Given the description of an element on the screen output the (x, y) to click on. 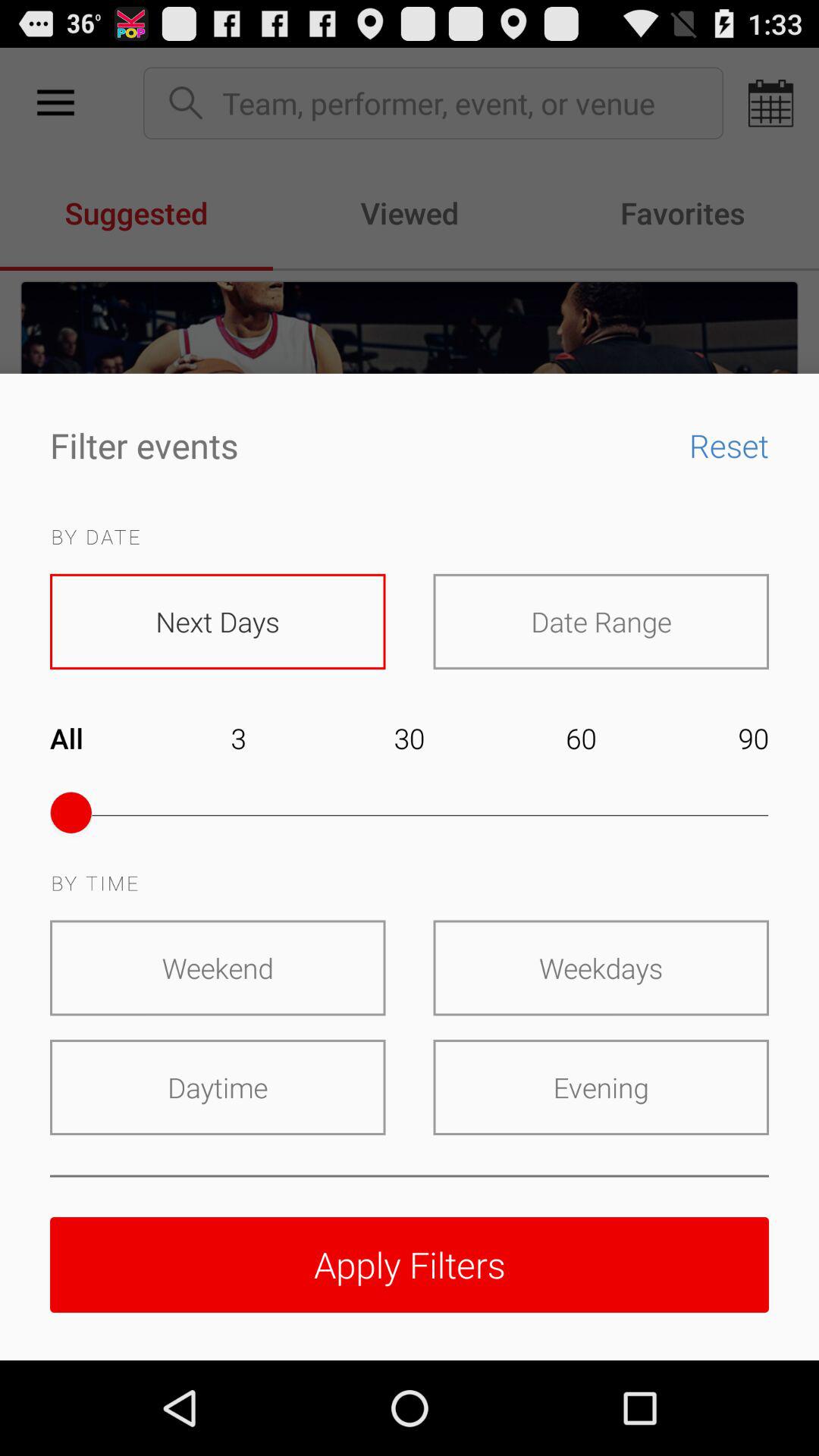
turn on icon below the weekend icon (217, 1087)
